Given the description of an element on the screen output the (x, y) to click on. 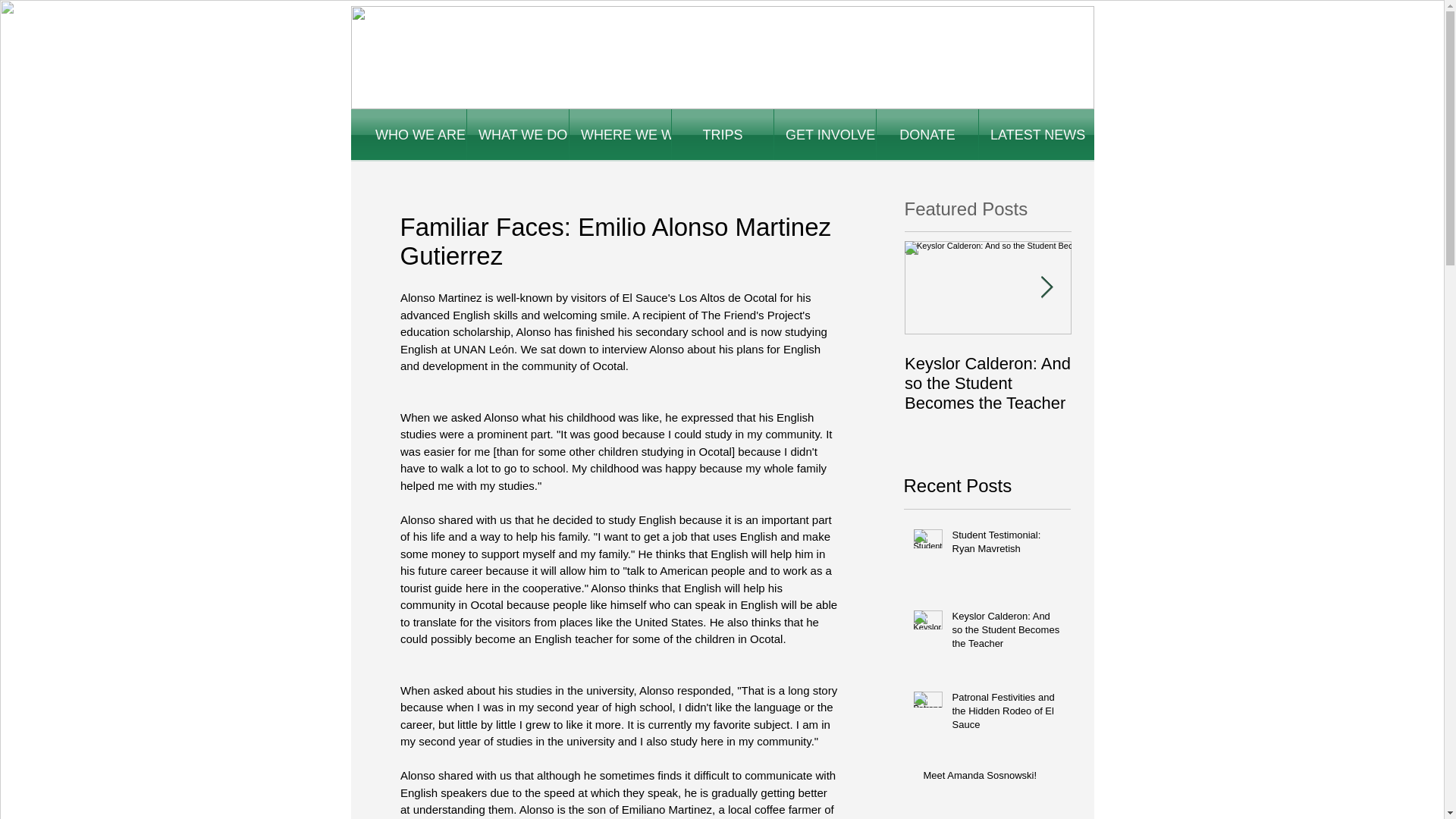
WHO WE ARE (414, 134)
DONATE (927, 134)
Keyslor Calderon: And so the Student Becomes the Teacher (1006, 633)
WHERE WE WORK (620, 134)
GET INVOLVED (825, 134)
LATEST NEWS (1029, 134)
Meet Amanda Sosnowski! (992, 778)
Keyslor Calderon: And so the Student Becomes the Teacher (987, 383)
Patronal Festivities and the Hidden Rodeo of El Sauce (1006, 714)
Patronal Festivities and the Hidden Rodeo of El Sauce (1153, 383)
